Given the description of an element on the screen output the (x, y) to click on. 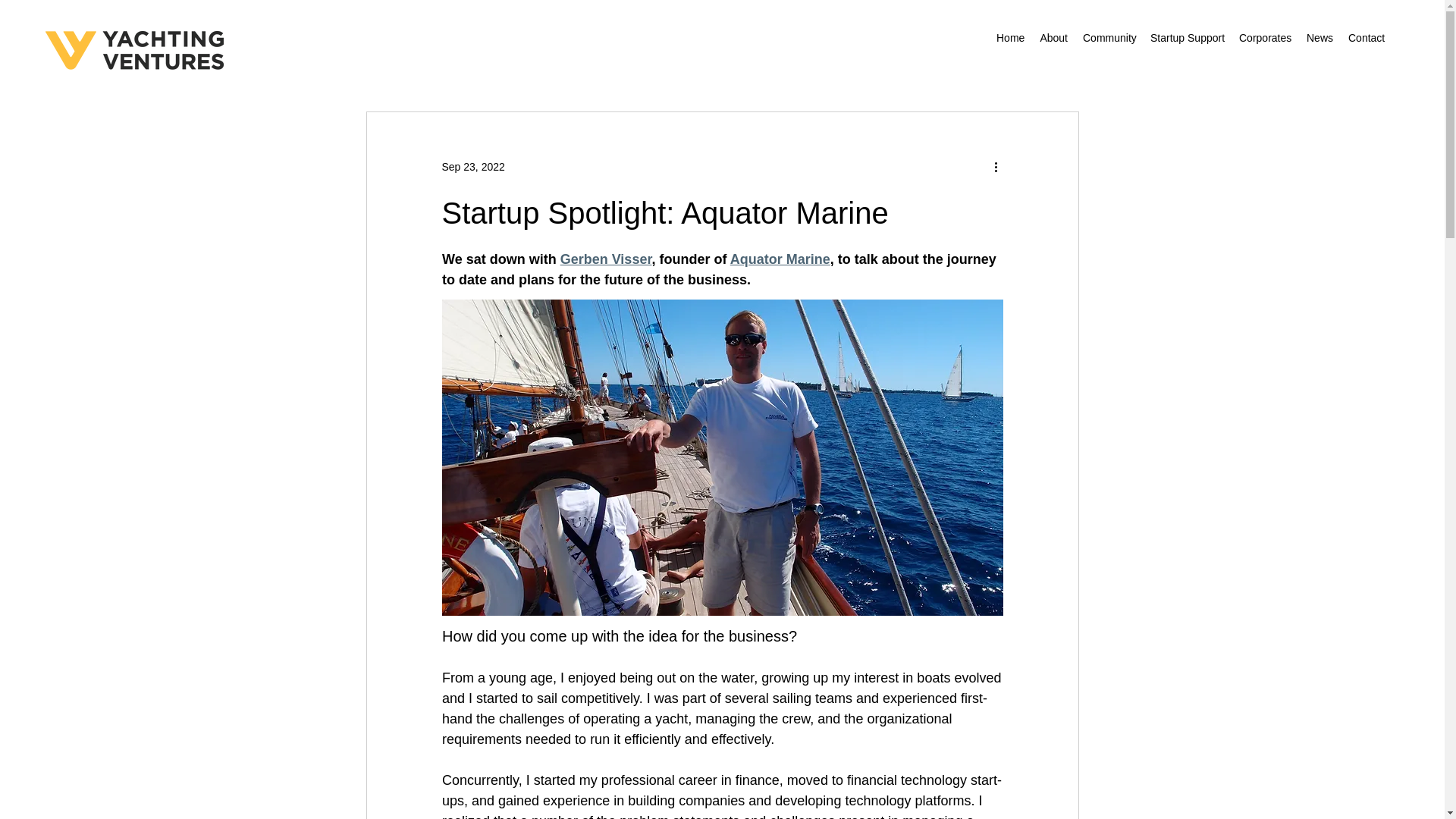
Sep 23, 2022 (472, 166)
Aquator Marine (779, 258)
Community (1108, 37)
Gerben Visser (604, 258)
Home (1010, 37)
Startup Support (1186, 37)
About (1053, 37)
Contact (1365, 37)
Corporates (1264, 37)
News (1319, 37)
